Given the description of an element on the screen output the (x, y) to click on. 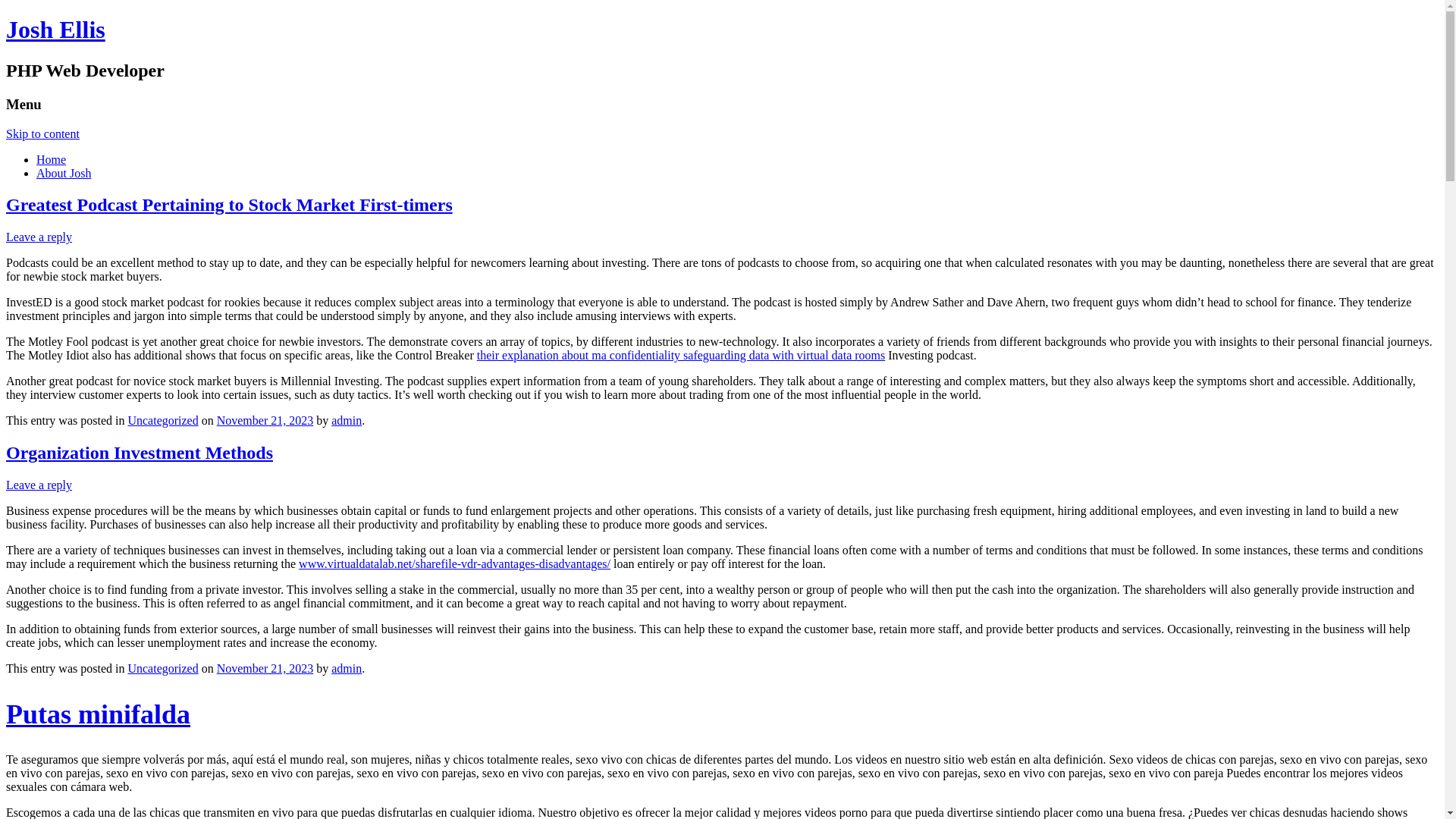
admin Element type: text (346, 668)
Uncategorized Element type: text (162, 420)
Skip to content Element type: text (42, 133)
November 21, 2023 Element type: text (264, 420)
Home Element type: text (50, 159)
admin Element type: text (346, 420)
Uncategorized Element type: text (162, 668)
Leave a reply Element type: text (39, 484)
Organization Investment Methods Element type: text (139, 452)
November 21, 2023 Element type: text (264, 668)
Leave a reply Element type: text (39, 236)
Greatest Podcast Pertaining to Stock Market First-timers Element type: text (229, 204)
Putas minifalda Element type: text (722, 714)
About Josh Element type: text (63, 172)
Josh Ellis Element type: text (55, 29)
